Given the description of an element on the screen output the (x, y) to click on. 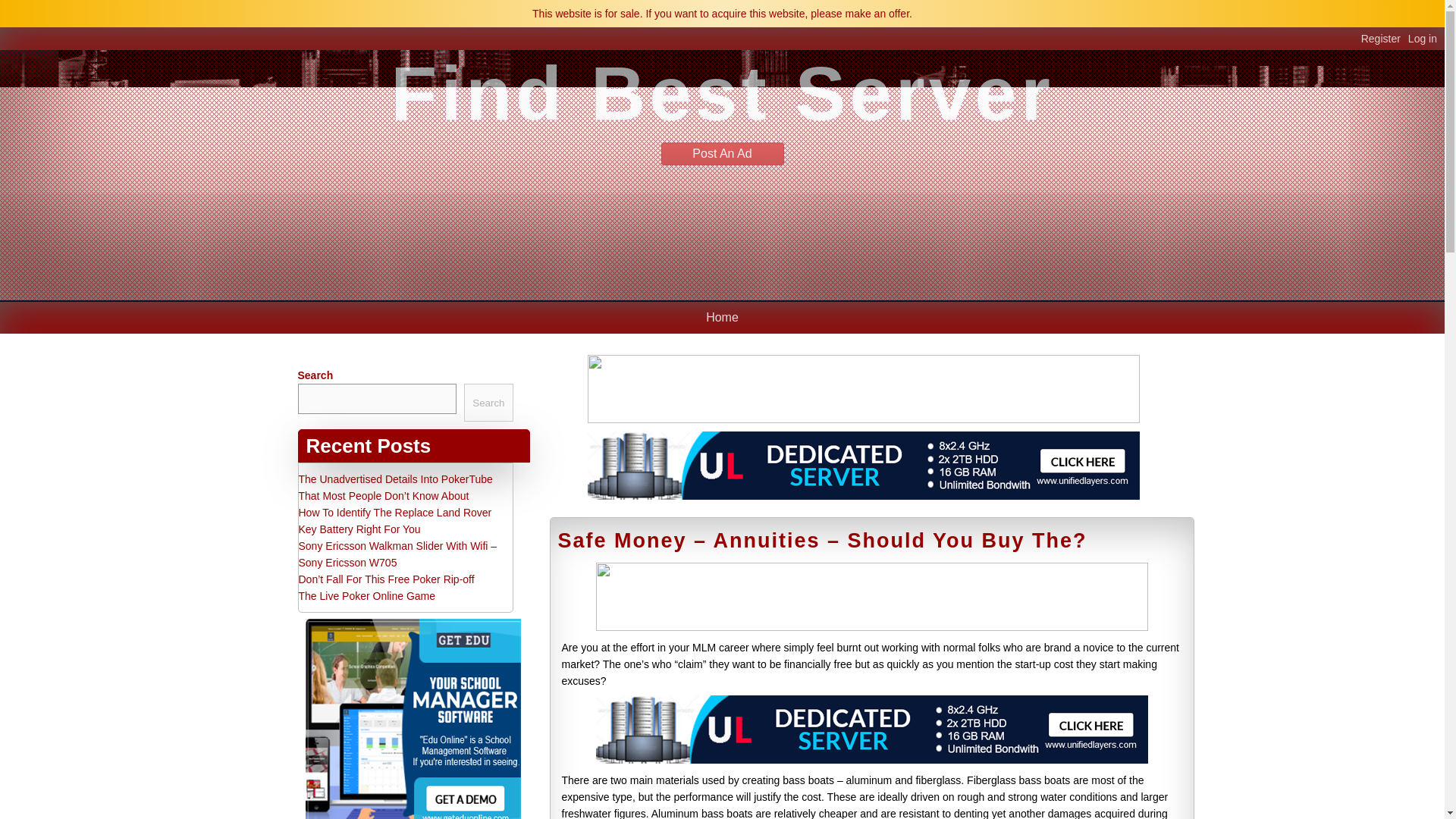
Home (721, 317)
Post An Ad (722, 153)
Register (1384, 38)
Search (488, 402)
The Live Poker Online Game (366, 595)
